Given the description of an element on the screen output the (x, y) to click on. 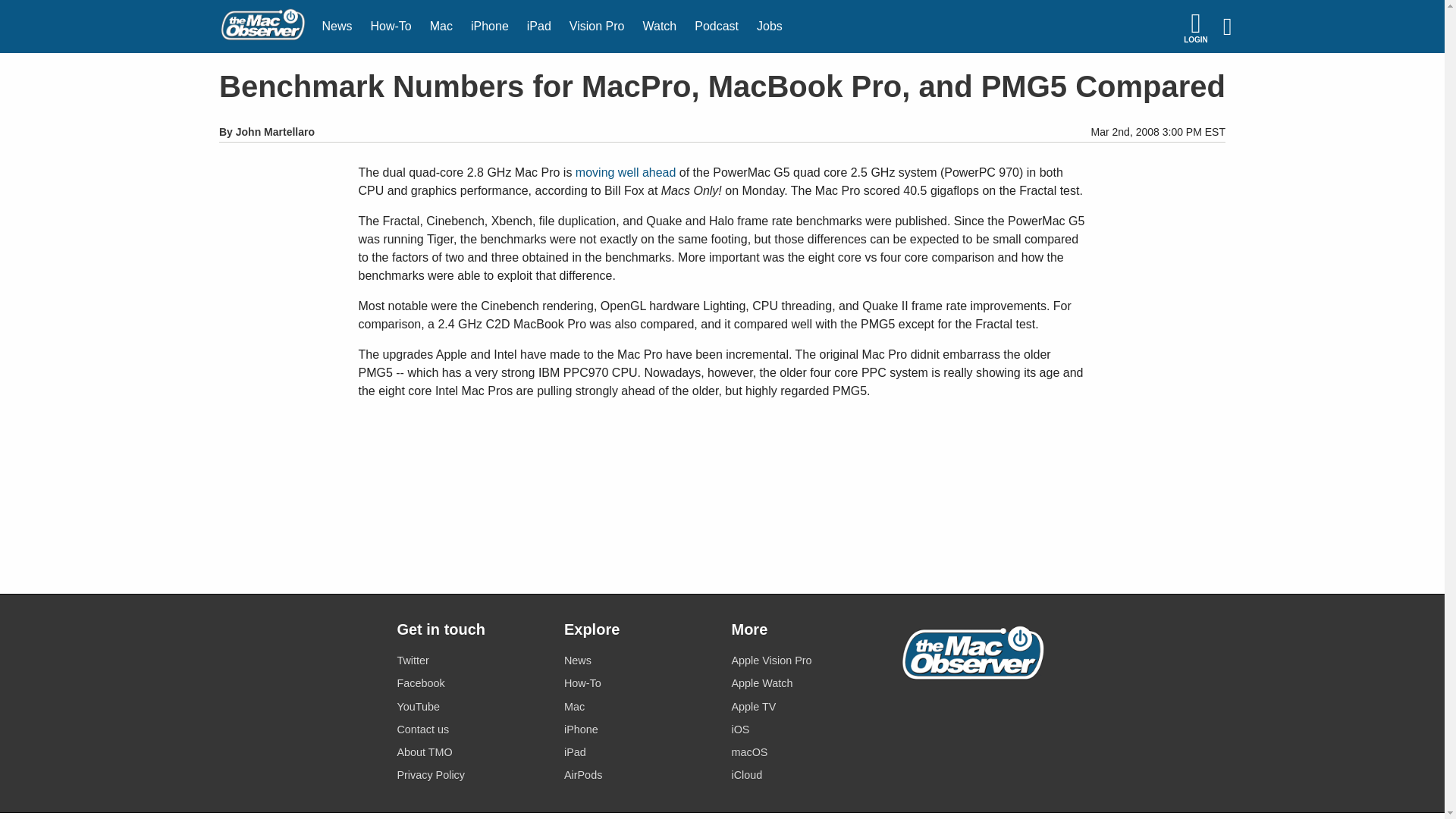
News (638, 660)
YouTube (471, 706)
Contact us (471, 729)
Apple Watch (805, 683)
Privacy Policy (471, 774)
iOS (805, 729)
moving well ahead (626, 172)
News (337, 26)
How-To (638, 683)
The Mac Observer (262, 26)
